Given the description of an element on the screen output the (x, y) to click on. 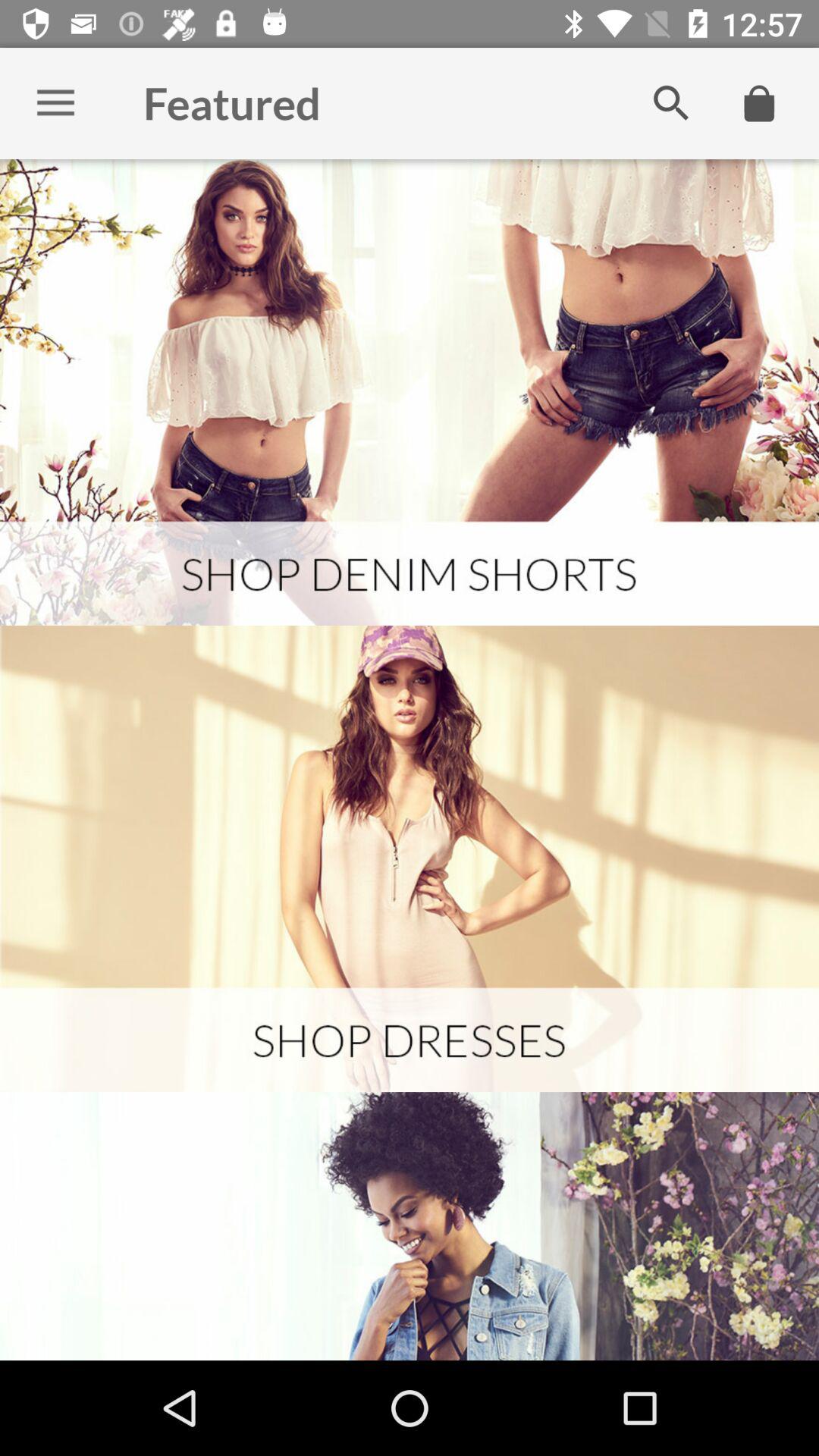
advertisement page (409, 858)
